Given the description of an element on the screen output the (x, y) to click on. 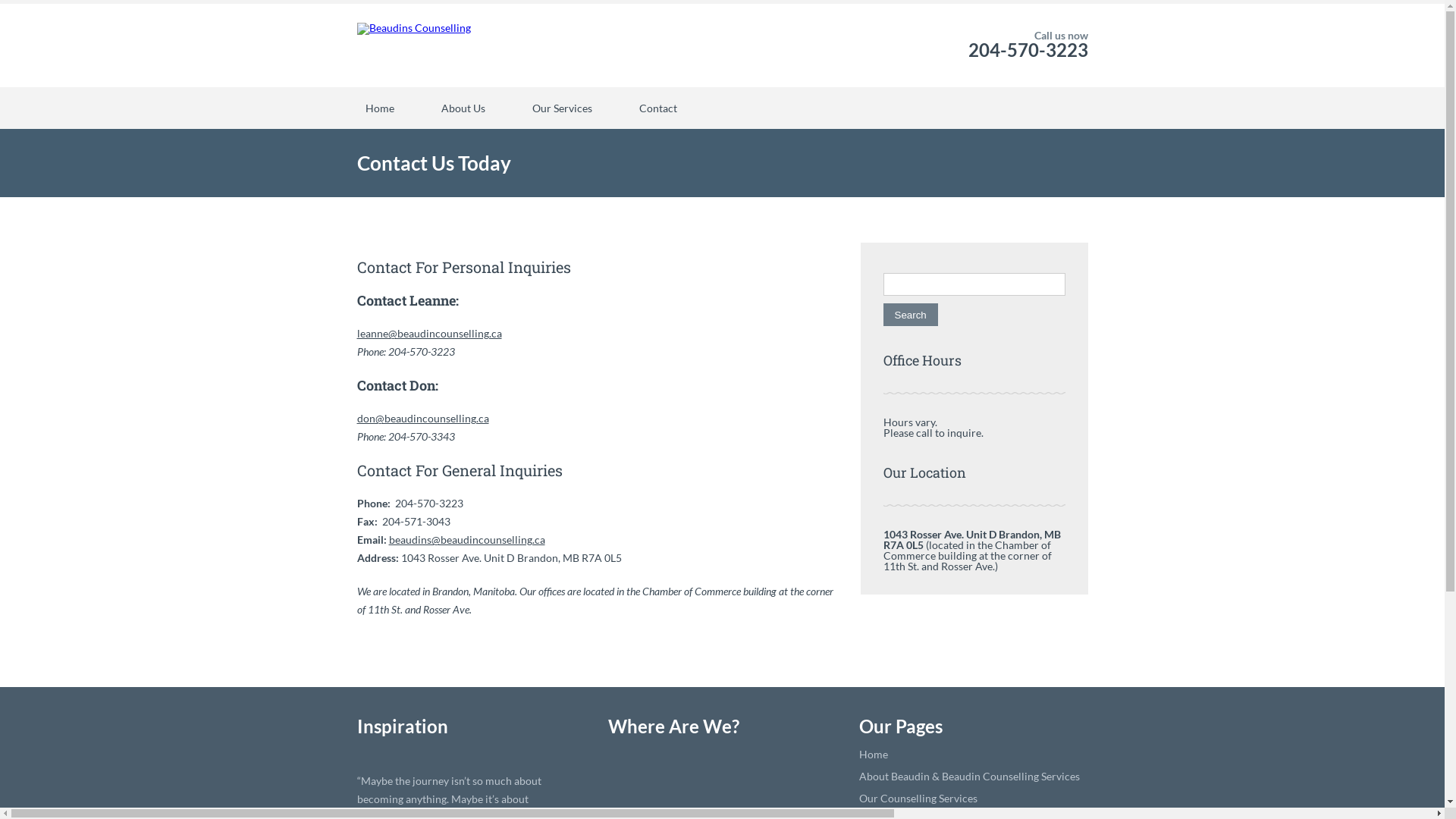
About Beaudin & Beaudin Counselling Services Element type: text (968, 775)
Beaudins Counselling Element type: hover (413, 28)
Our Services Element type: text (561, 108)
About Us Element type: text (462, 108)
Contact Element type: text (657, 108)
leanne@beaudincounselling.ca Element type: text (428, 332)
Home Element type: text (378, 108)
Search Element type: text (909, 314)
don@beaudincounselling.ca Element type: text (422, 417)
Home Element type: text (872, 753)
Beaudins Counselling Element type: hover (413, 45)
204-570-3223 Element type: text (1027, 49)
beaudins@beaudincounselling.ca Element type: text (466, 539)
Our Counselling Services Element type: text (917, 797)
